Given the description of an element on the screen output the (x, y) to click on. 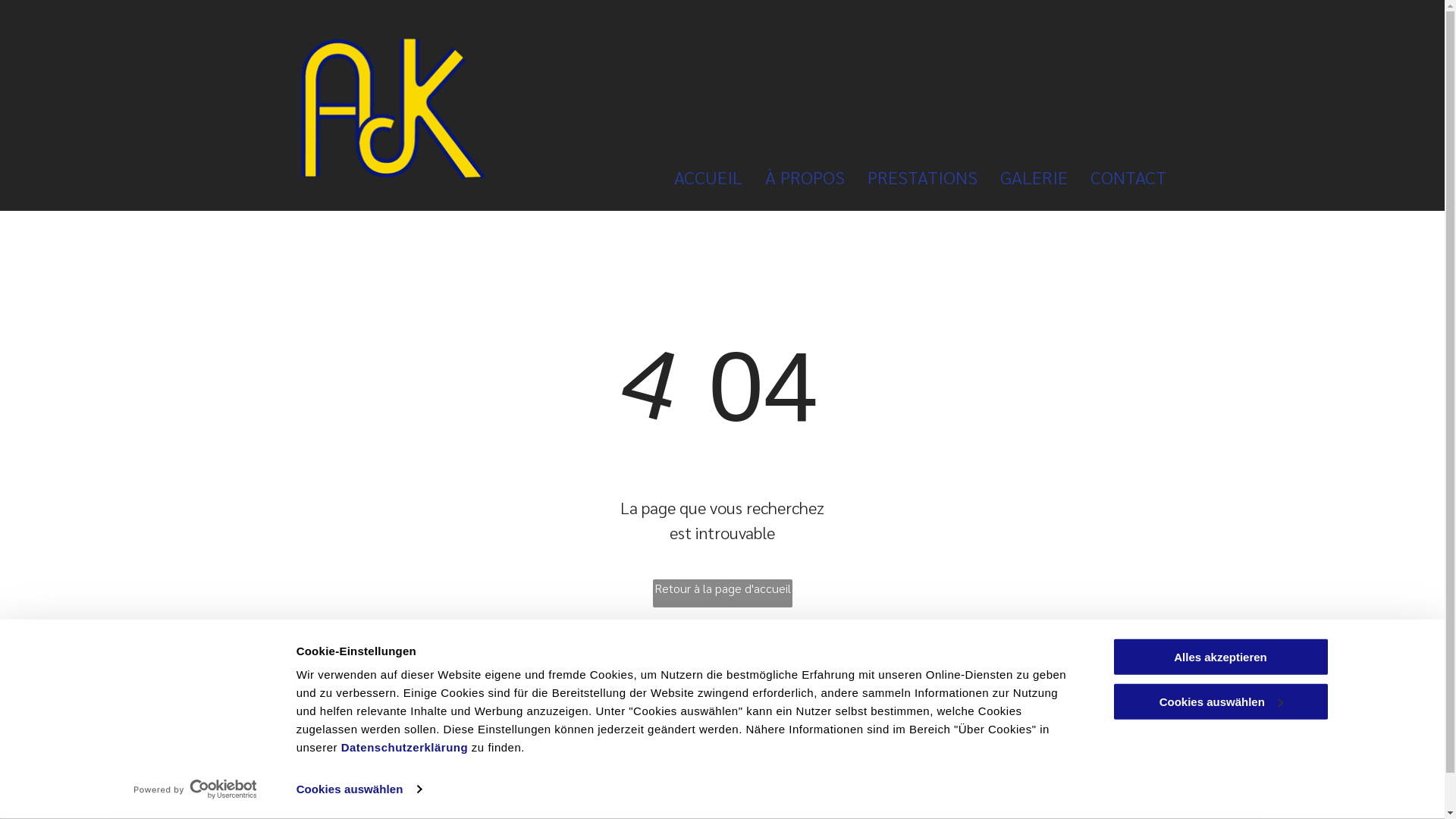
GALERIE Element type: text (1021, 176)
info@acksa.ch Element type: text (620, 735)
Alles akzeptieren Element type: text (1219, 656)
+41 21 801 18 62 Element type: text (628, 698)
PRESTATIONS Element type: text (910, 176)
ACCUEIL Element type: text (695, 176)
CONTACT Element type: text (1116, 176)
